Given the description of an element on the screen output the (x, y) to click on. 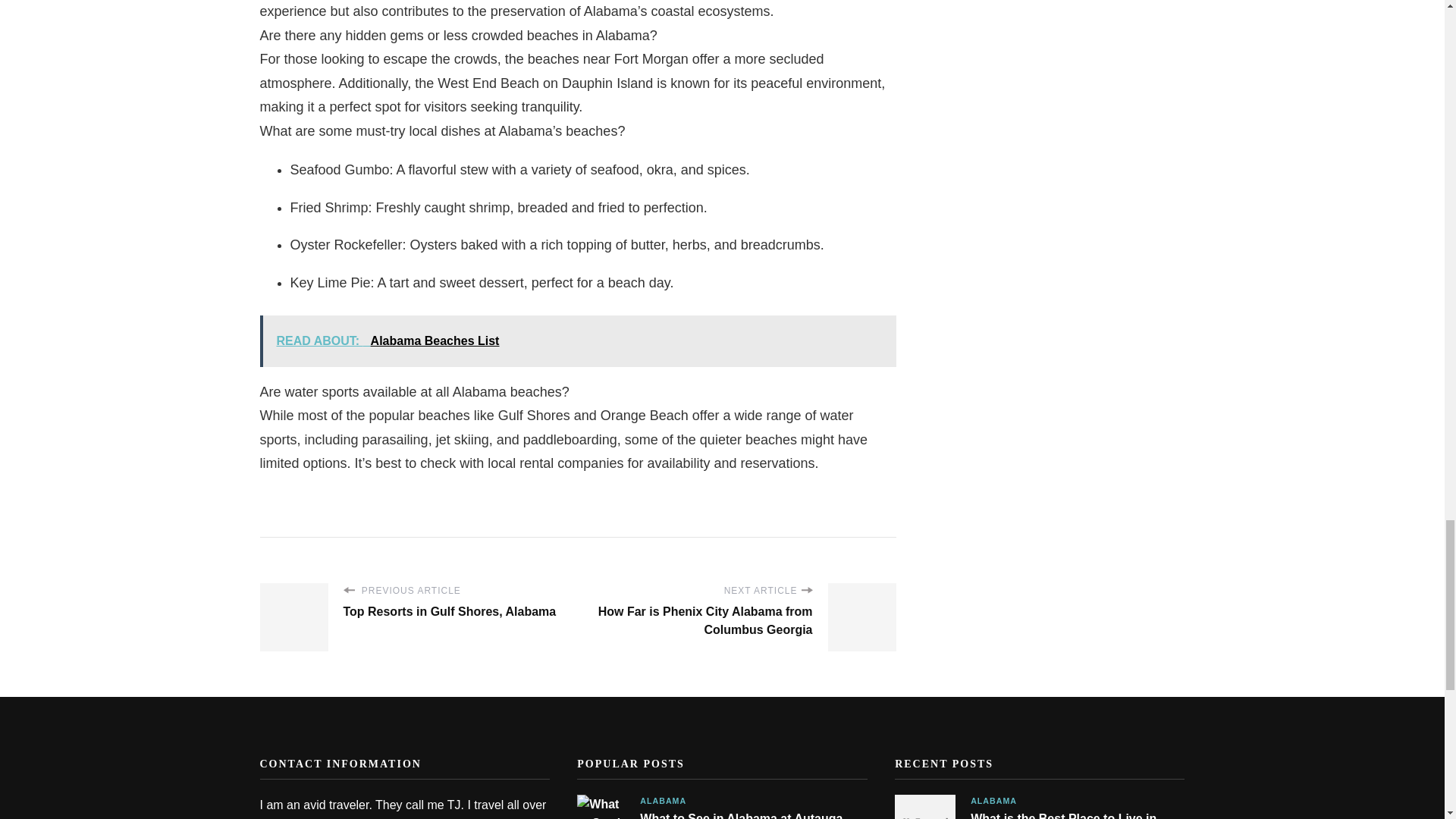
ALABAMA (662, 800)
READ ABOUT:   Alabama Beaches List (577, 340)
